Given the description of an element on the screen output the (x, y) to click on. 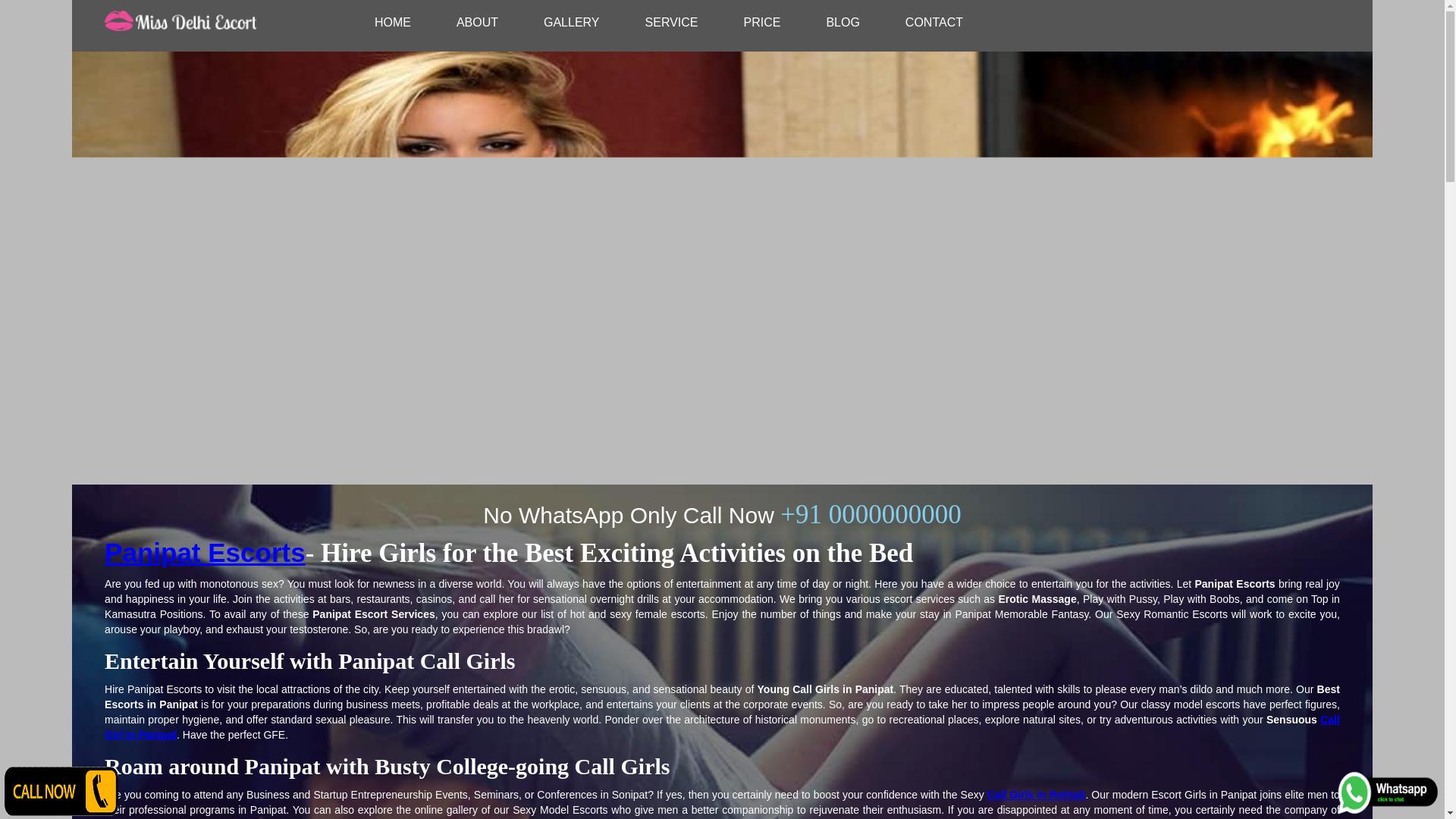
GALLERY (572, 22)
HOME (392, 22)
Panipat Escorts (204, 552)
Panipat Escorts (204, 552)
Panipat Escorts (721, 727)
Call Girl in Panipat (721, 727)
Call Girls in Rohtak (1036, 794)
SERVICE (671, 22)
ABOUT (477, 22)
